Given the description of an element on the screen output the (x, y) to click on. 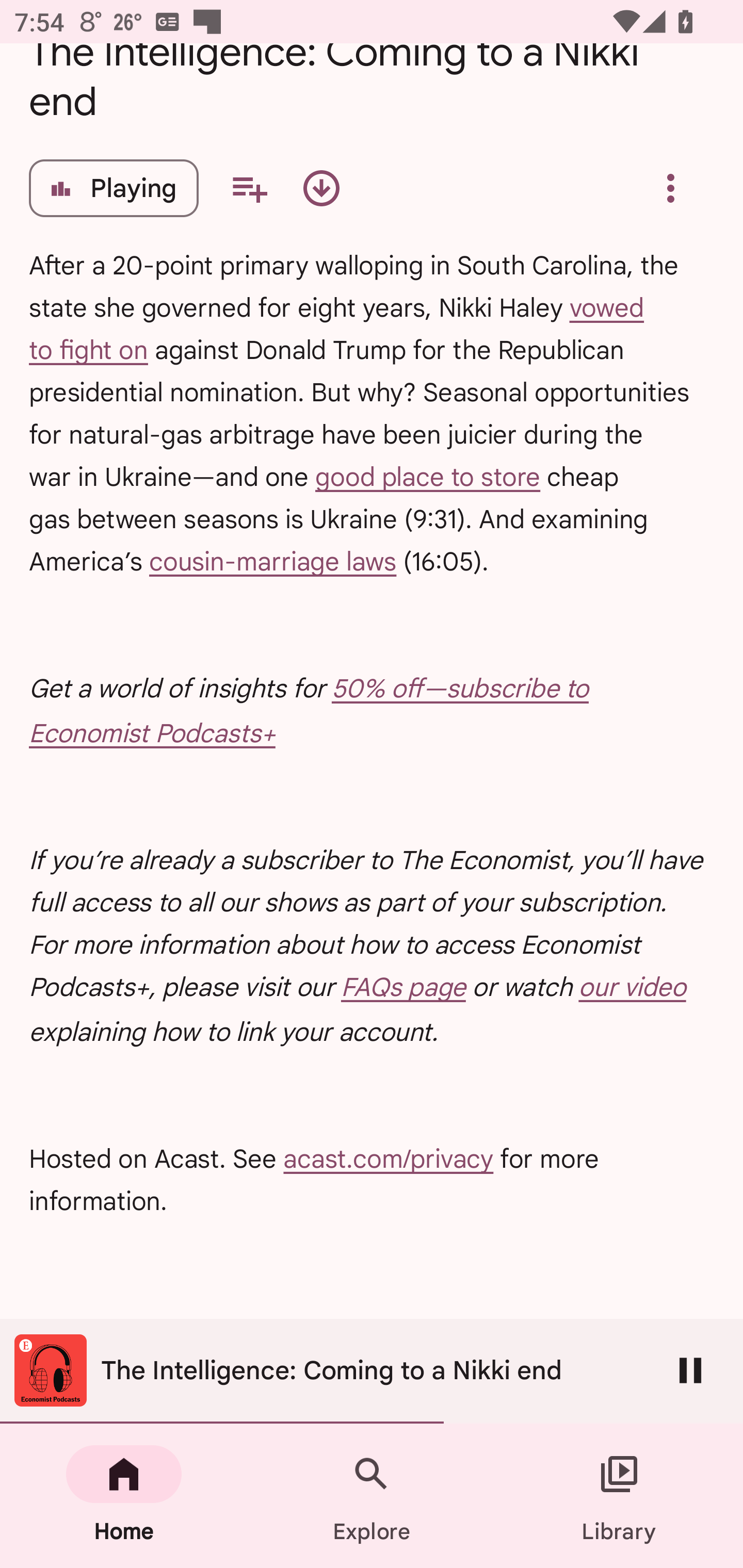
Add to your queue (249, 188)
Download episode (321, 188)
Overflow menu (670, 188)
Pause (690, 1370)
Explore (371, 1495)
Library (619, 1495)
